Given the description of an element on the screen output the (x, y) to click on. 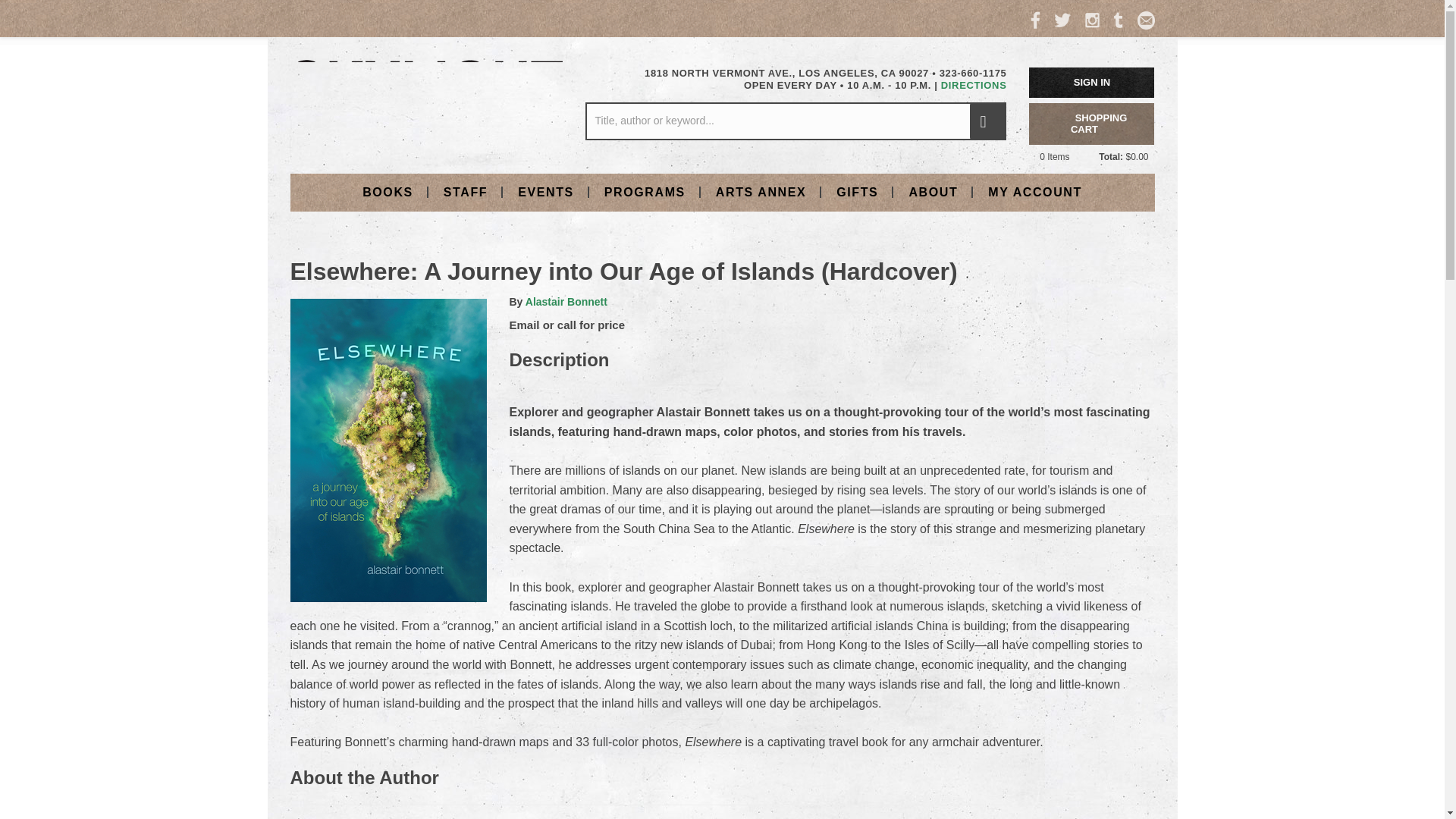
PROGRAMS (644, 191)
GIFTS (857, 191)
BOOKS (387, 191)
DIRECTIONS (973, 84)
Title, author or keyword... (795, 121)
SIGN IN (1091, 81)
EVENTS (545, 191)
Home (425, 98)
STAFF (465, 191)
search (987, 121)
ARTS ANNEX (760, 191)
SHOPPING CART (1091, 123)
search (987, 121)
